Given the description of an element on the screen output the (x, y) to click on. 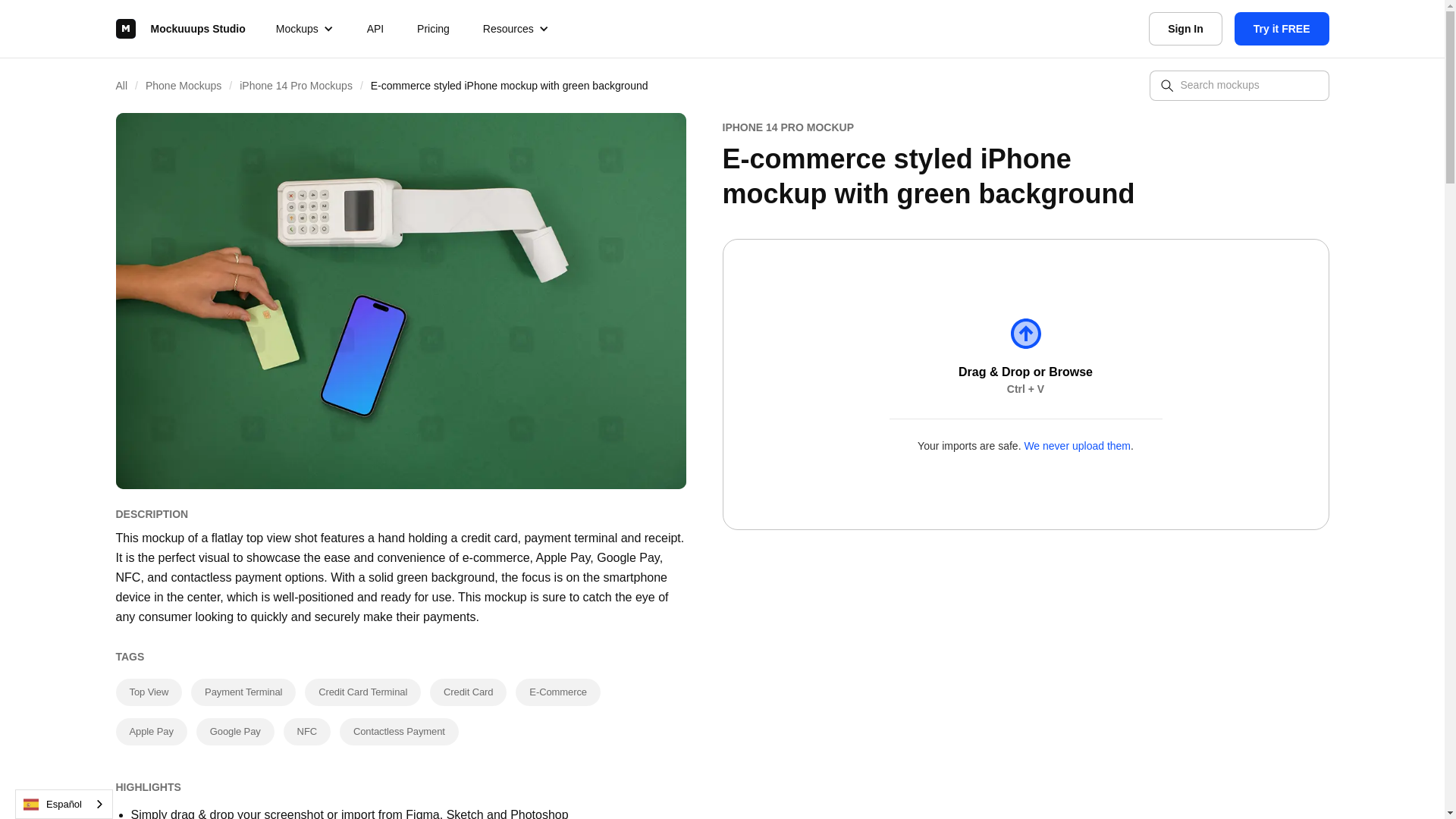
Contactless Payment (398, 731)
Top View (148, 691)
We never upload them (1077, 445)
Payment Terminal (242, 691)
Pricing (432, 28)
Try it FREE (1281, 28)
Mockuuups Studio (179, 28)
API (375, 28)
Credit Card (467, 691)
Google Pay (235, 731)
Apple Pay (150, 731)
Sign In (1185, 28)
Browse All Mockups (129, 85)
NFC (306, 731)
Credit Card Terminal (362, 691)
